Given the description of an element on the screen output the (x, y) to click on. 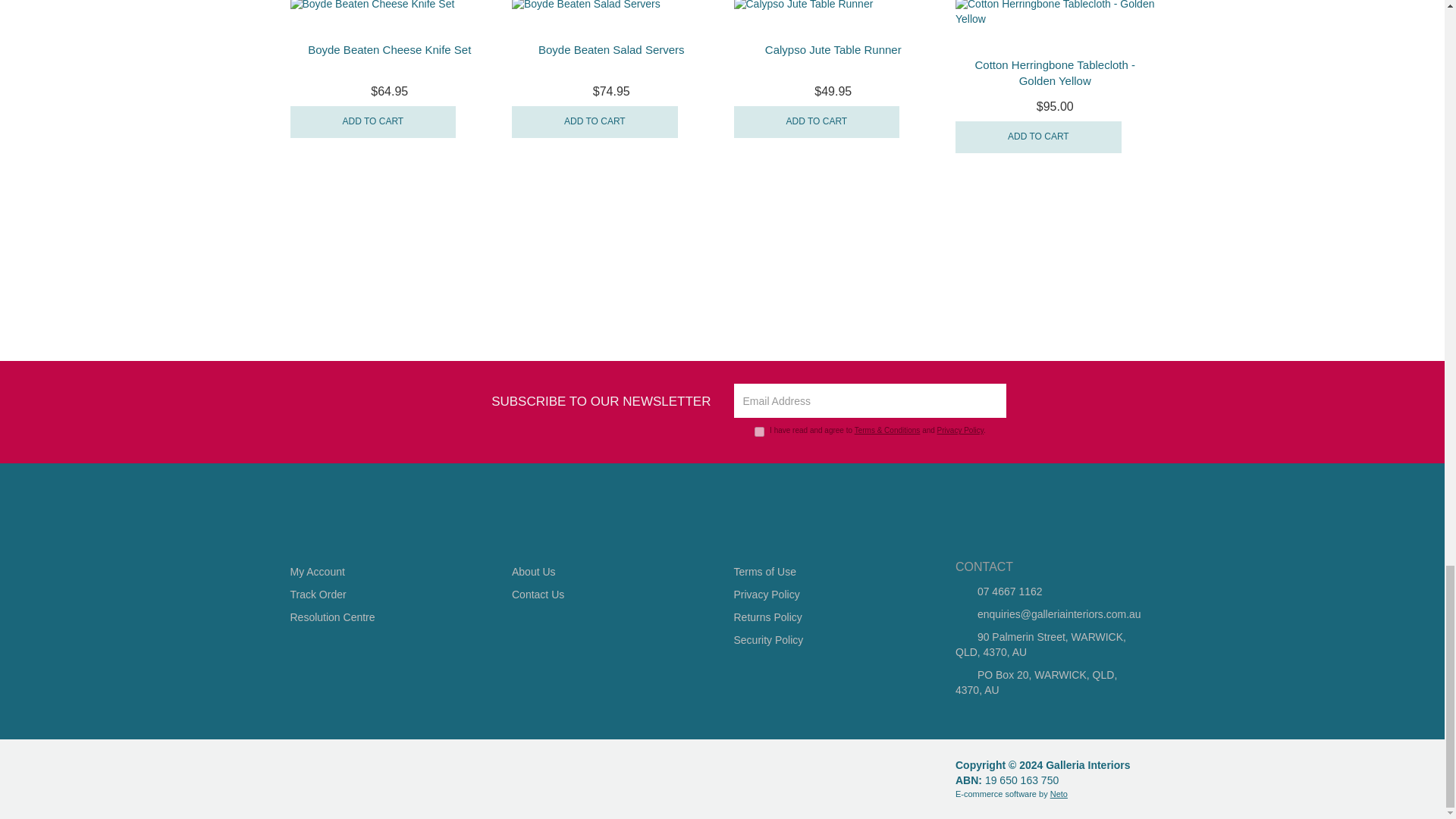
y (759, 431)
